Given the description of an element on the screen output the (x, y) to click on. 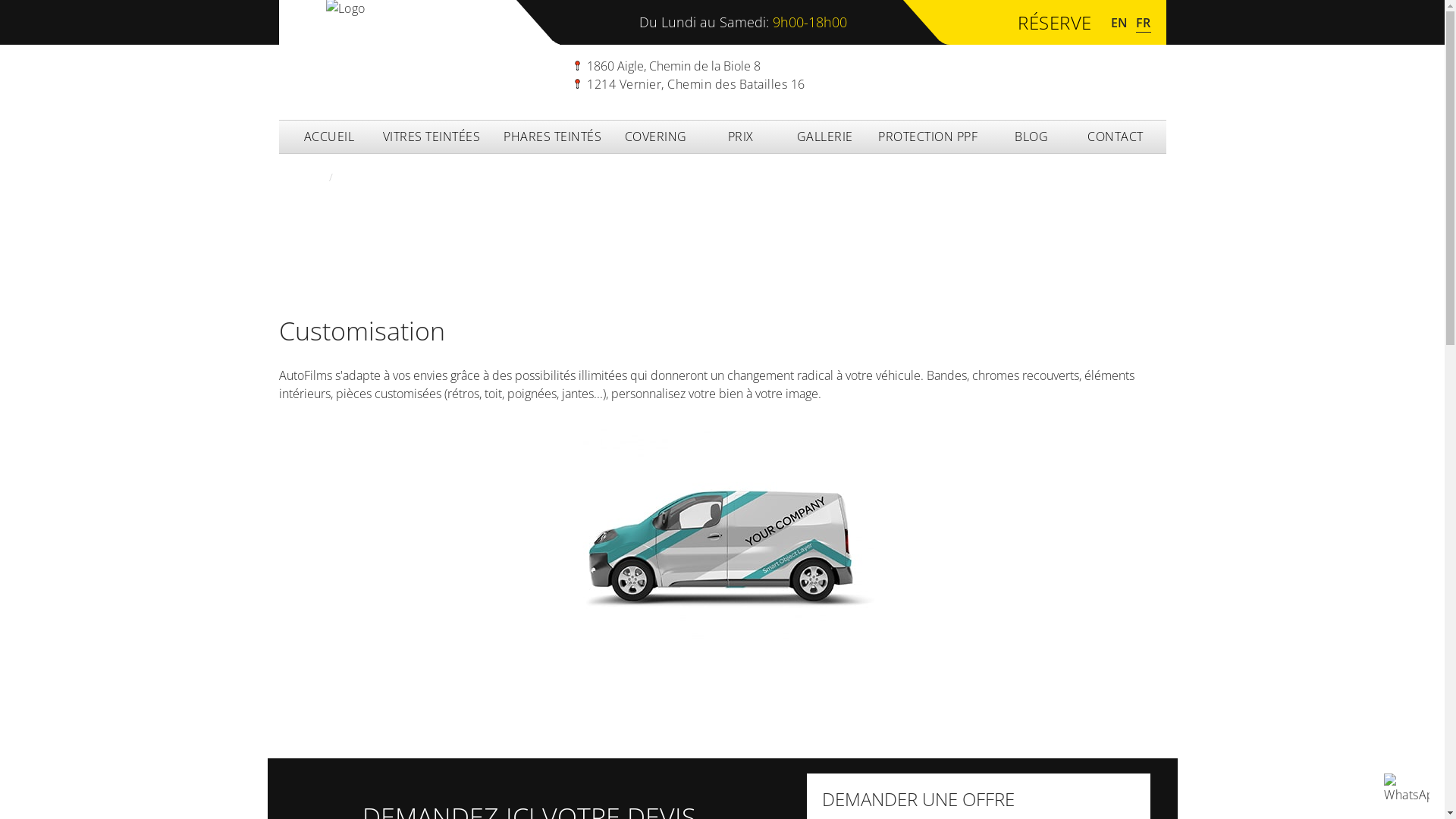
PROTECTION PPF Element type: text (927, 136)
ACCUEIL Element type: text (329, 136)
1214 Vernier, Chemin des Batailles 16 Element type: text (689, 83)
GALLERIE Element type: text (824, 136)
EN Element type: text (1118, 20)
AutoFilms Aigle Element type: hover (1406, 788)
FR Element type: text (1143, 20)
CONTACT Element type: text (1115, 136)
Accueil Element type: text (297, 176)
PRIX Element type: text (740, 136)
BLOG Element type: text (1031, 136)
1860 Aigle, Chemin de la Biole 8 Element type: hover (577, 65)
COVERING Element type: text (655, 136)
1214 Vernier, Chemin des Batailles 16 Element type: hover (577, 83)
